Given the description of an element on the screen output the (x, y) to click on. 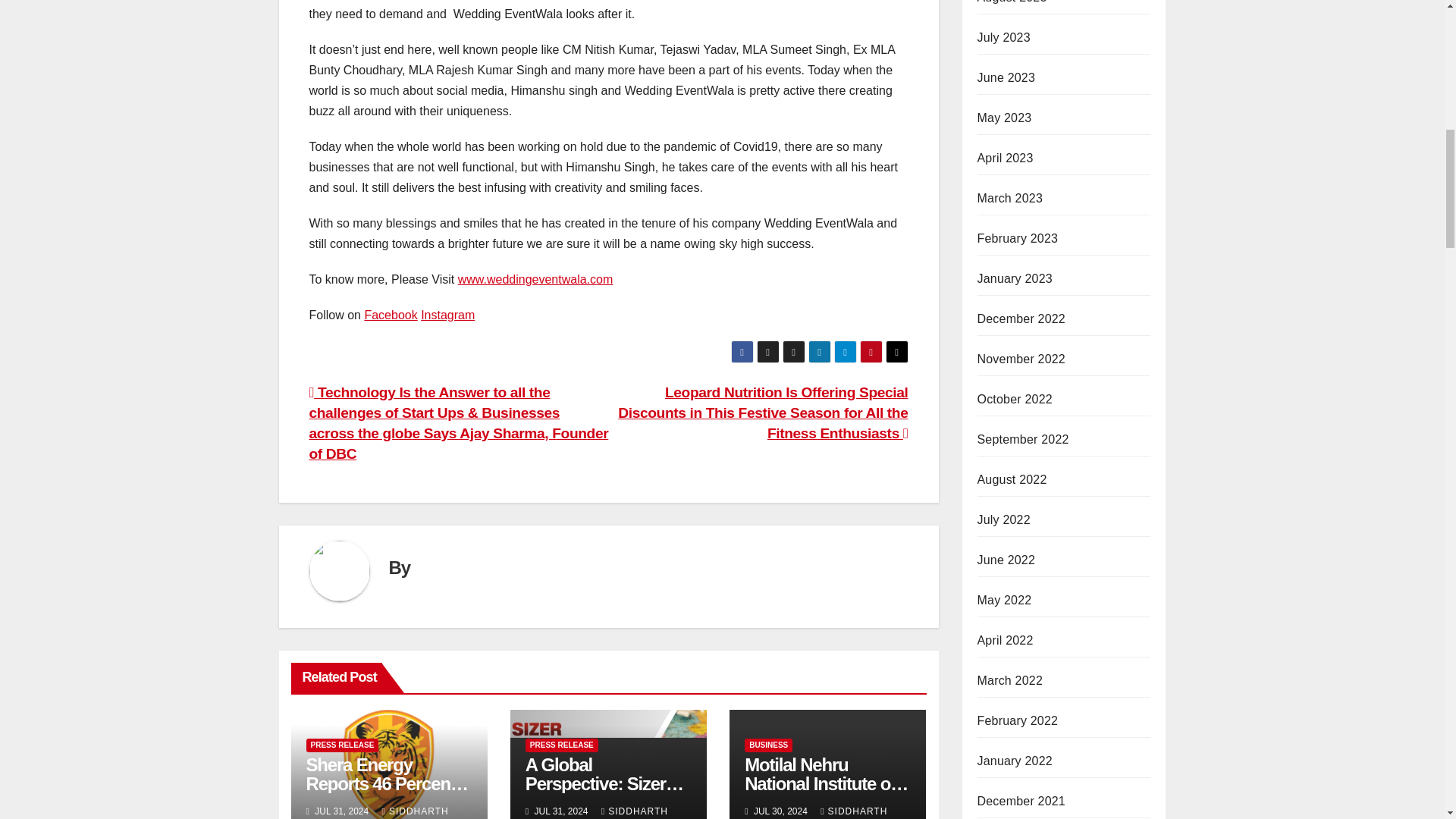
PRESS RELEASE (341, 745)
SIDDHARTH MEHTA (376, 812)
www.weddingeventwala.com (535, 278)
Instagram (447, 314)
Facebook (390, 314)
